Given the description of an element on the screen output the (x, y) to click on. 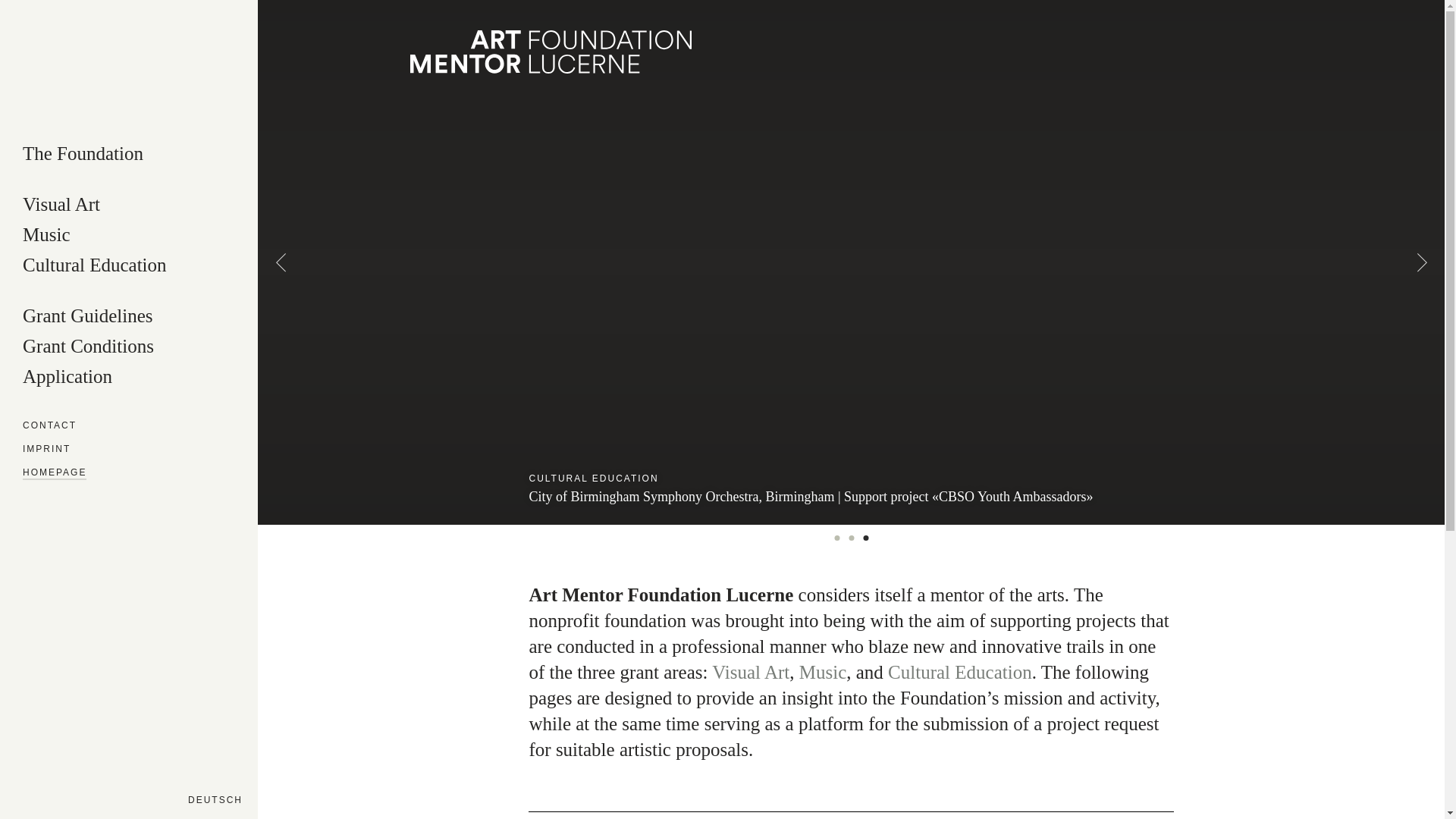
Visual Art Element type: text (61, 205)
DEUTSCH Element type: text (215, 797)
Music Element type: text (823, 672)
Cultural Education Element type: text (960, 672)
Cultural Education Element type: text (94, 266)
IMPRINT Element type: text (46, 450)
Grant Guidelines Element type: text (87, 317)
Music Element type: text (46, 236)
Grant Conditions Element type: text (87, 347)
Application Element type: text (67, 378)
HOMEPAGE Element type: text (54, 473)
The Foundation Element type: text (82, 155)
Visual Art Element type: text (750, 672)
CONTACT Element type: text (49, 426)
